Given the description of an element on the screen output the (x, y) to click on. 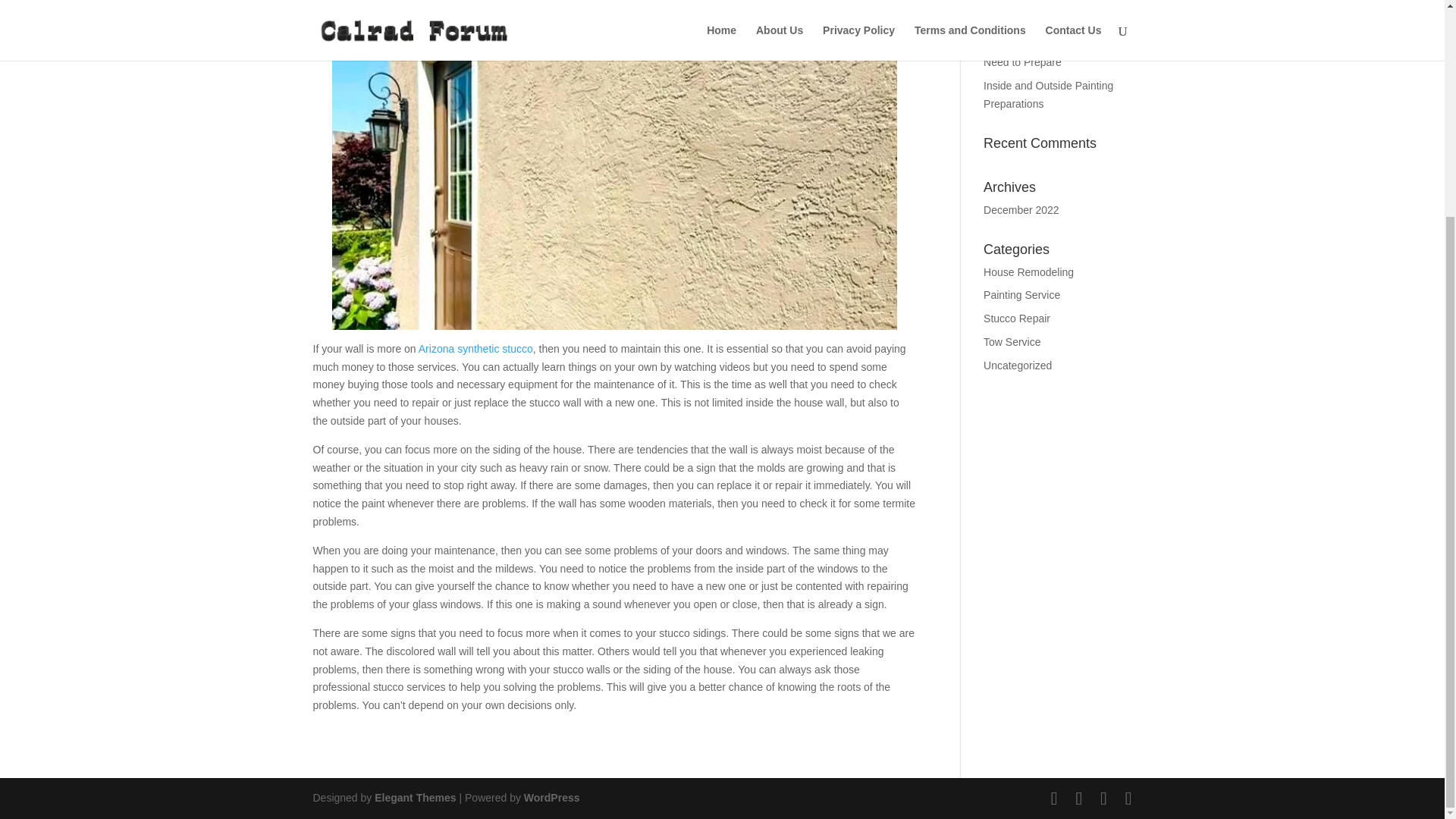
Painting Service (1021, 295)
Arizona synthetic stucco (475, 348)
Premium WordPress Themes (414, 797)
Elegant Themes (414, 797)
WordPress (551, 797)
Painting Company Rules You Need to Prepare  (1052, 53)
Helpful Road Reminders for Every Car Owner  (1049, 13)
Tow Service (1012, 341)
December 2022 (1021, 209)
House Remodeling (1029, 272)
